Given the description of an element on the screen output the (x, y) to click on. 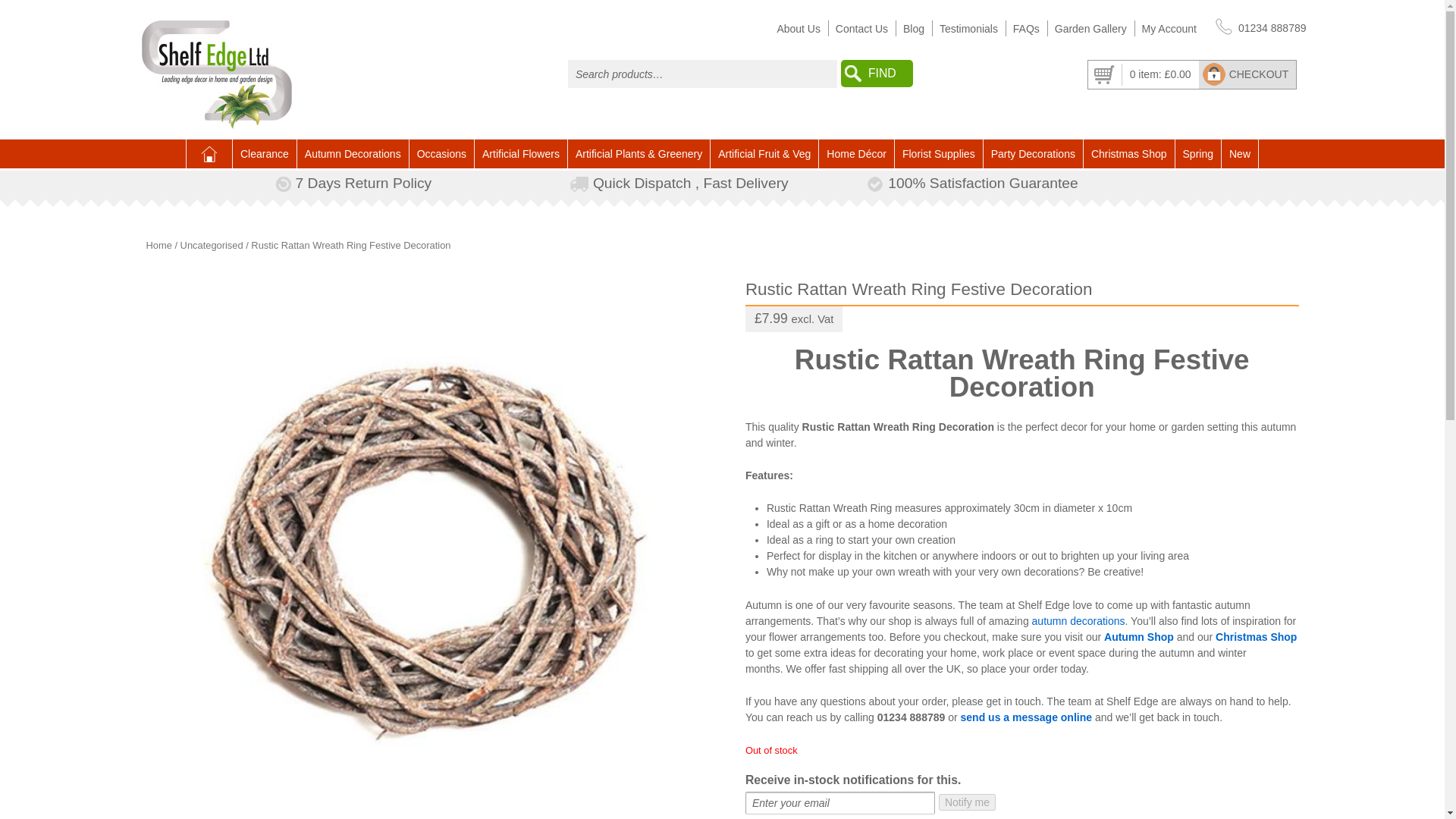
Contact Us (861, 28)
Occasions (441, 153)
Clearance (264, 153)
About Us (798, 28)
Search (876, 72)
Garden Gallery (1090, 28)
CHECKOUT (1247, 74)
Blog (913, 28)
Autumn Decorations (353, 153)
